Given the description of an element on the screen output the (x, y) to click on. 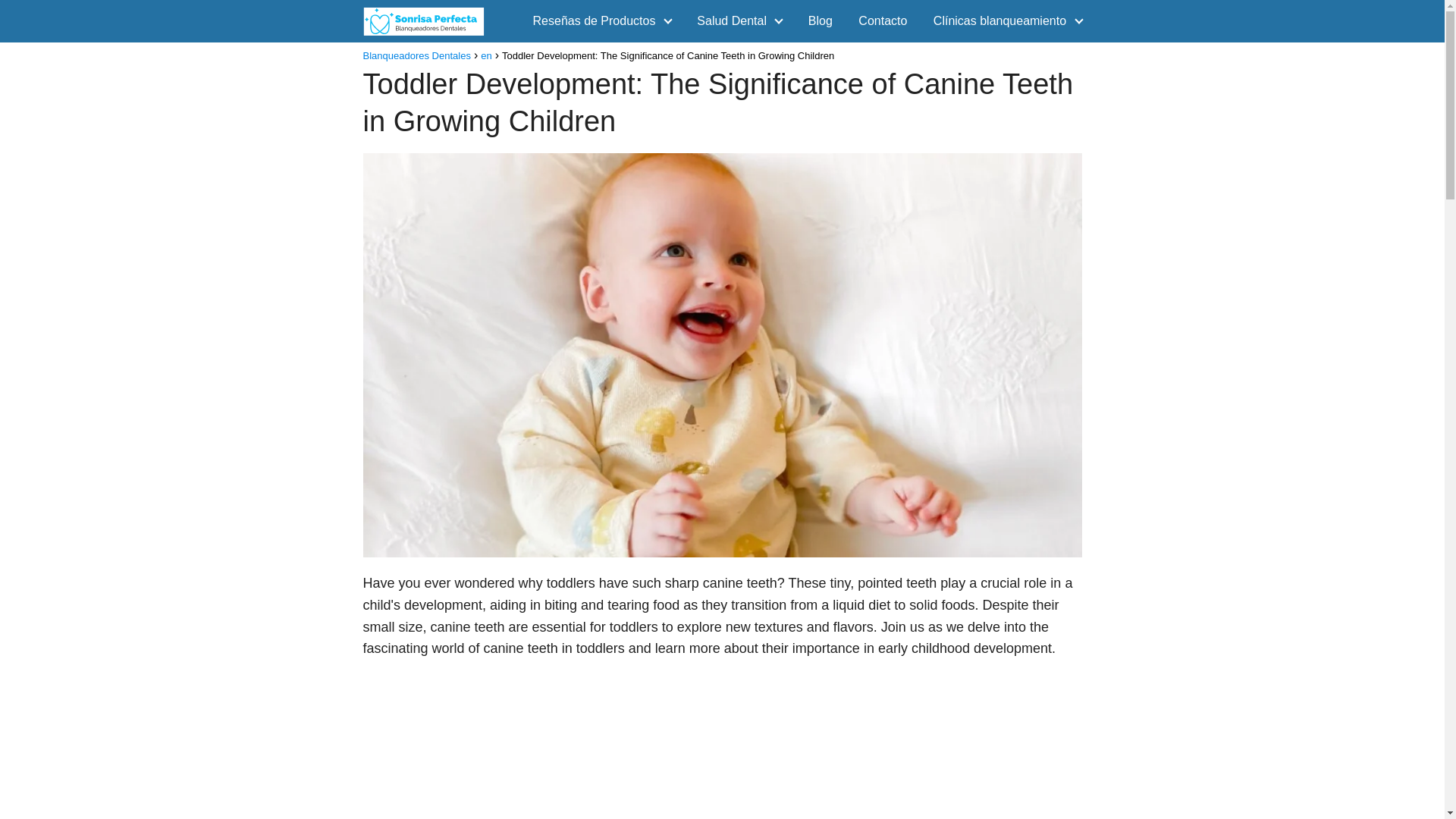
Contacto (883, 20)
Salud Dental (735, 20)
Blog (820, 20)
